Given the description of an element on the screen output the (x, y) to click on. 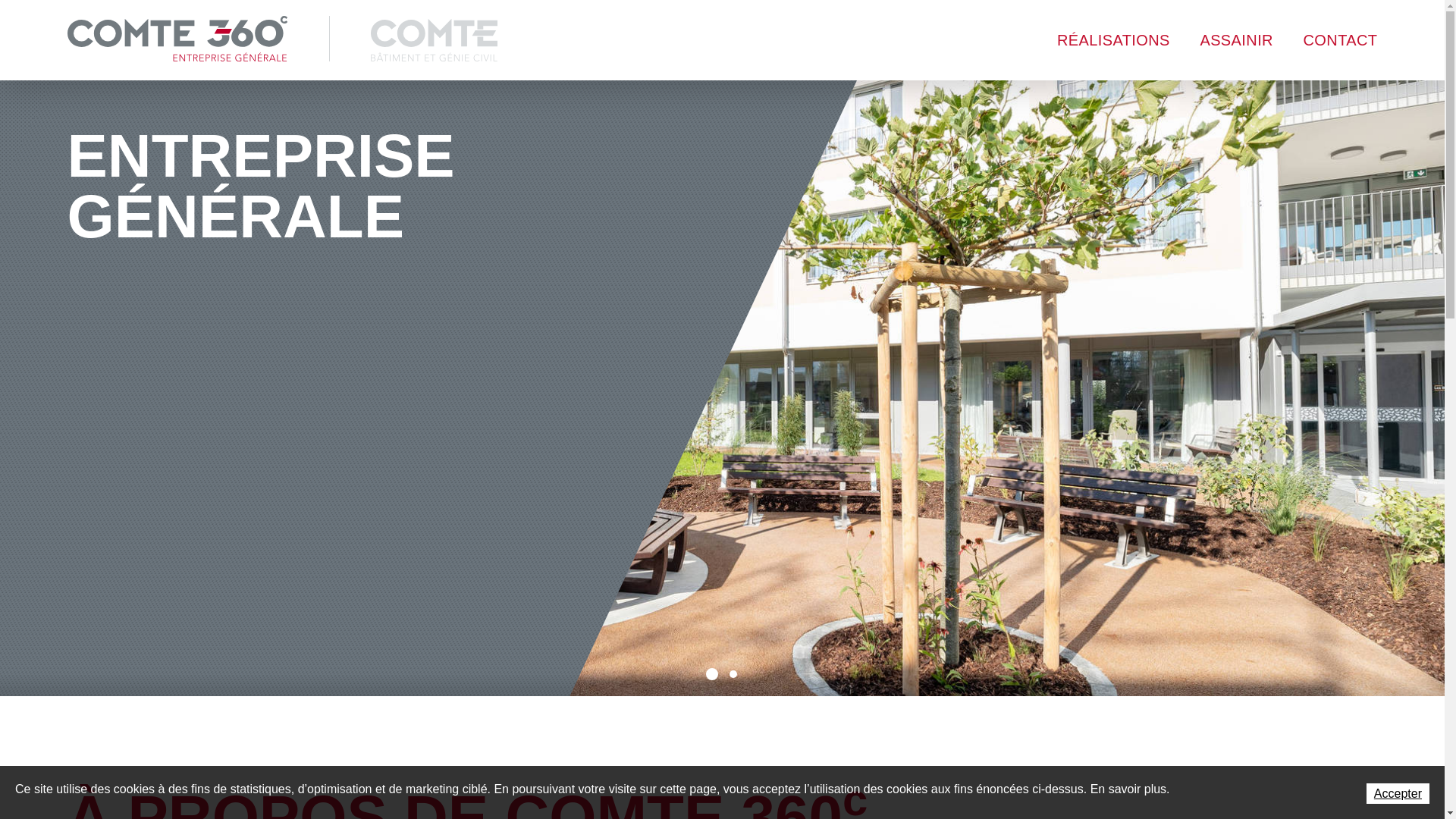
Accepter Element type: text (1397, 793)
CONTACT Element type: text (1333, 40)
ASSAINIR Element type: text (1236, 40)
